Given the description of an element on the screen output the (x, y) to click on. 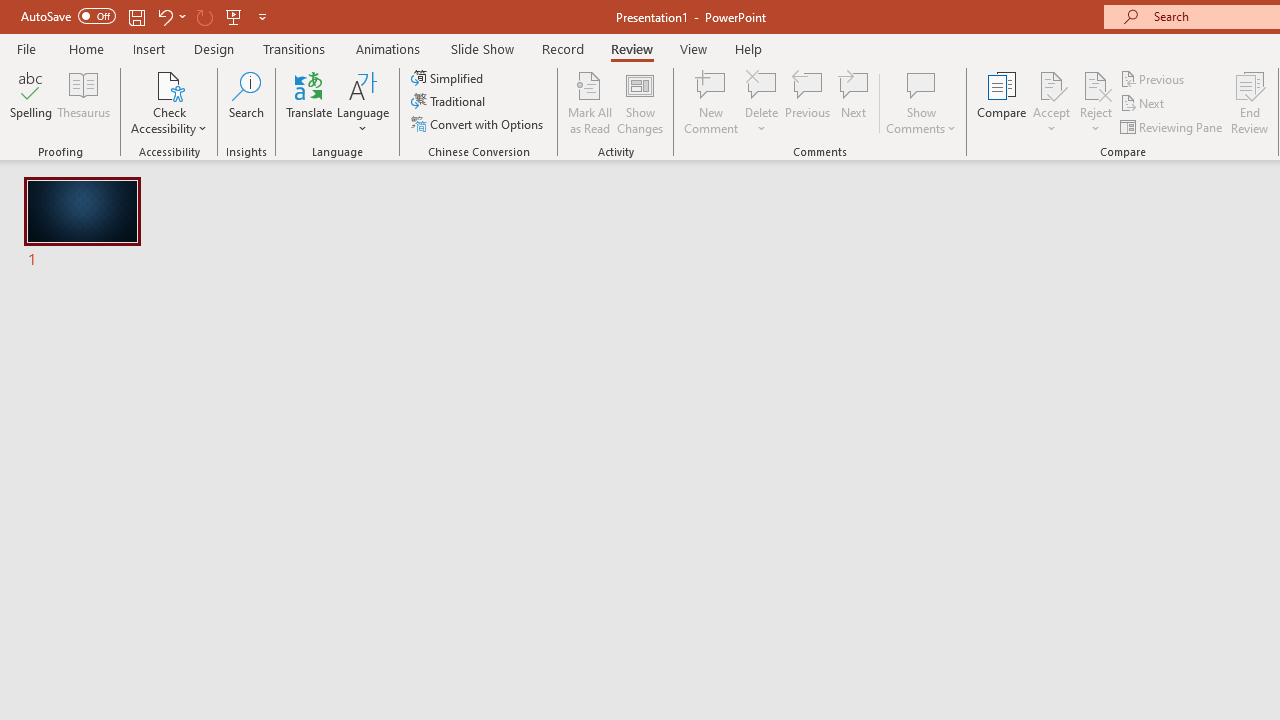
Accept Change (1051, 84)
